Given the description of an element on the screen output the (x, y) to click on. 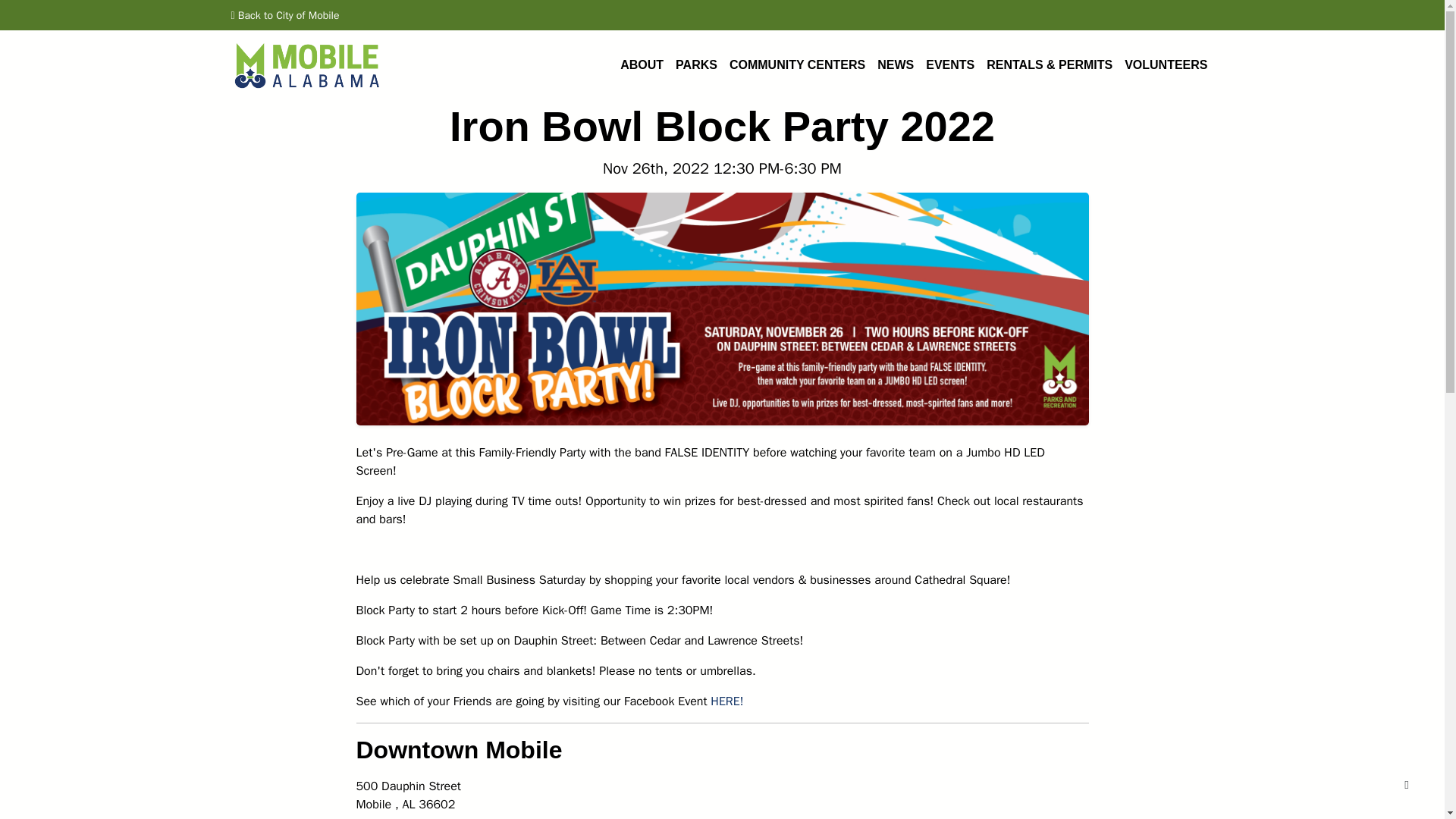
ABOUT (641, 64)
Volunteers (1165, 64)
Events (949, 64)
Parks (696, 64)
HERE! (726, 701)
About (641, 64)
EVENTS (949, 64)
COMMUNITY CENTERS (796, 64)
VOLUNTEERS (1165, 64)
PARKS (696, 64)
